Given the description of an element on the screen output the (x, y) to click on. 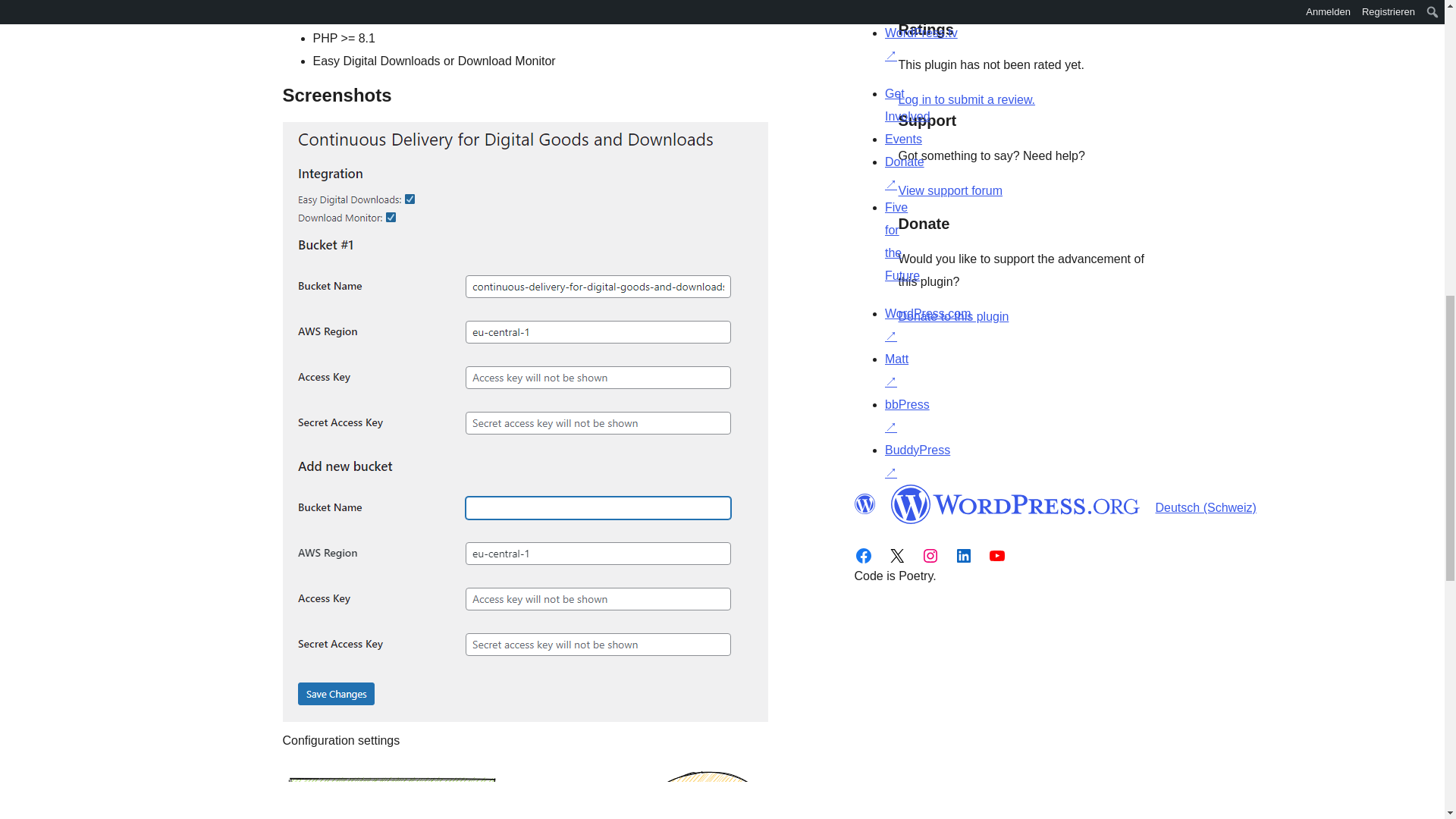
WordPress.org (1014, 504)
Log in to WordPress.org (966, 99)
WordPress.org (864, 504)
